Given the description of an element on the screen output the (x, y) to click on. 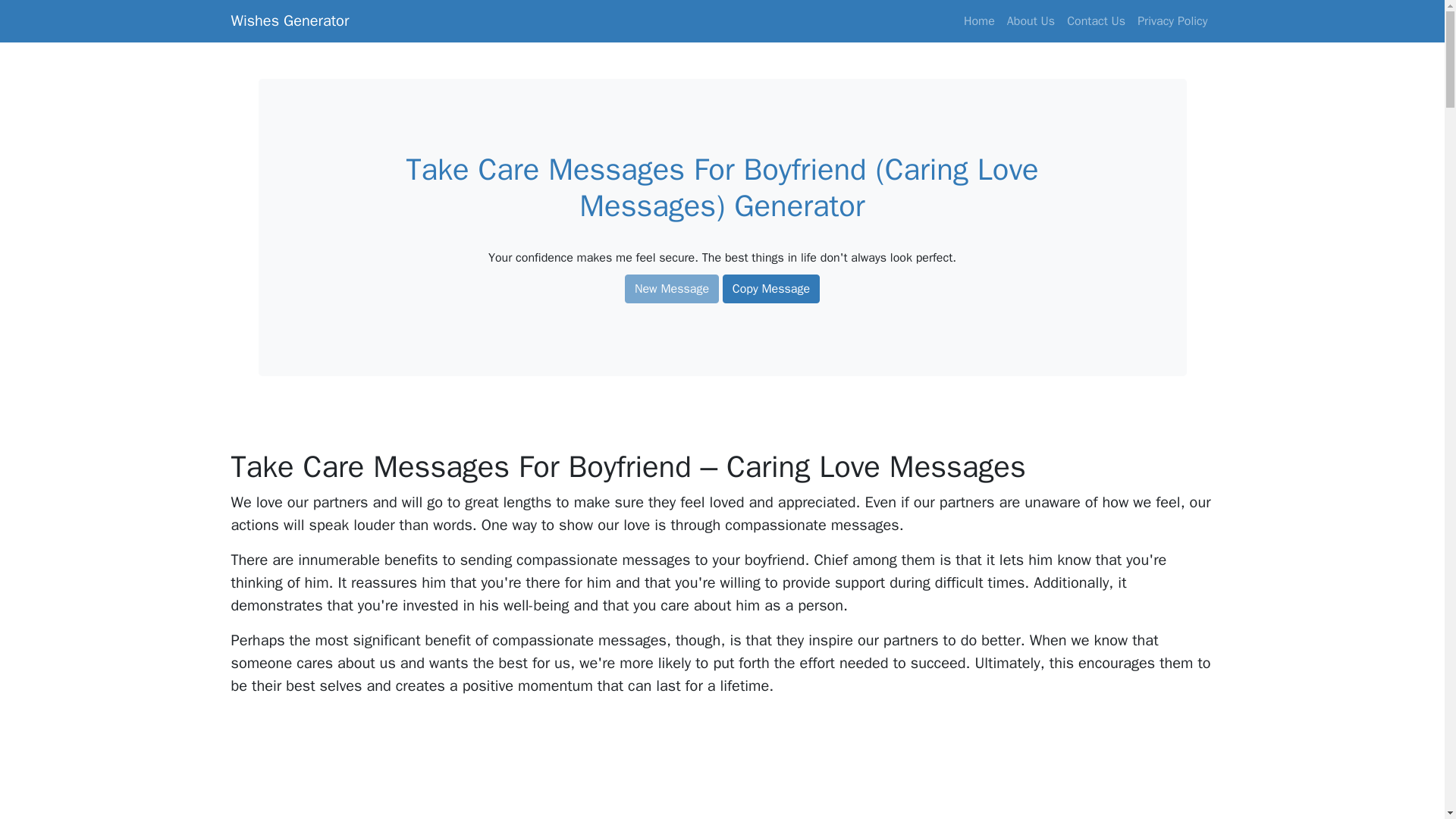
Copy Message (770, 288)
Wishes Generator (289, 20)
Home (979, 20)
About Us (1031, 20)
Privacy Policy (1171, 20)
New Message (671, 288)
Contact Us (1096, 20)
